Given the description of an element on the screen output the (x, y) to click on. 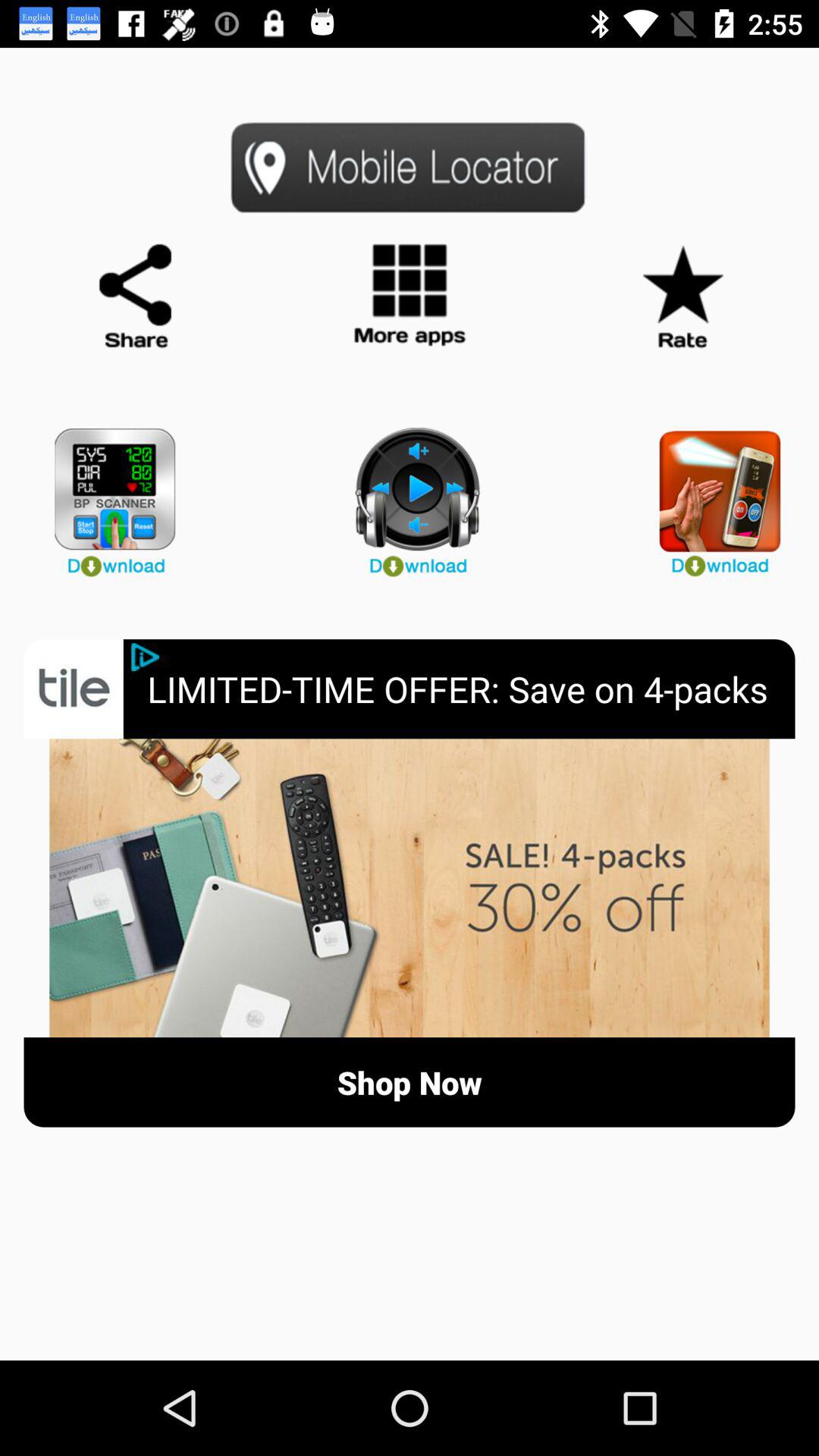
click the item above the limited time offer icon (711, 495)
